Given the description of an element on the screen output the (x, y) to click on. 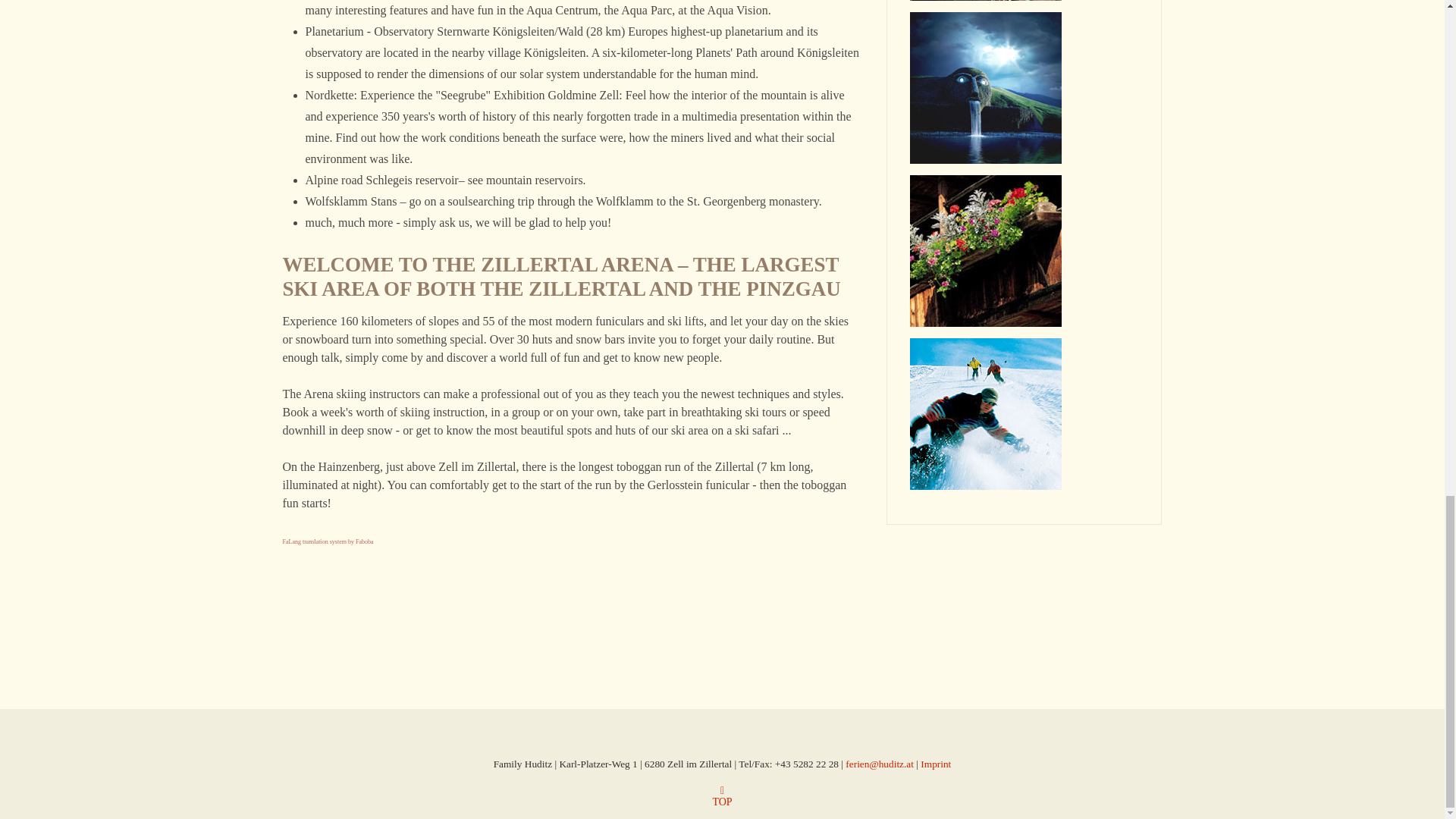
TOP (722, 802)
FaLang translation system by Faboba (327, 541)
Imprint (935, 763)
TOP (722, 802)
